Given the description of an element on the screen output the (x, y) to click on. 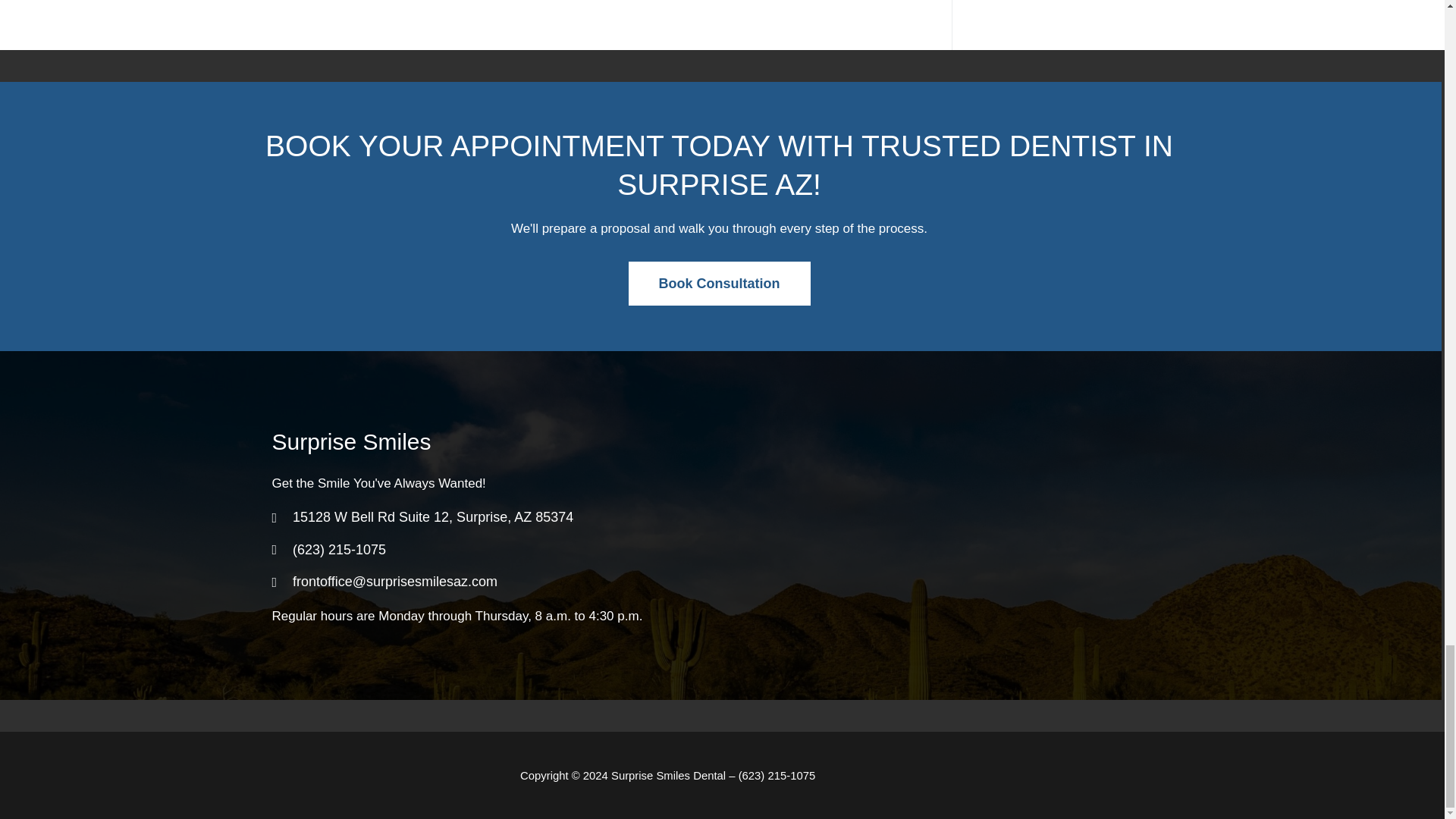
Surprise Smiles 15128 W Bell Rd Suite 12, Surprise, AZ 85374 (930, 525)
